Given the description of an element on the screen output the (x, y) to click on. 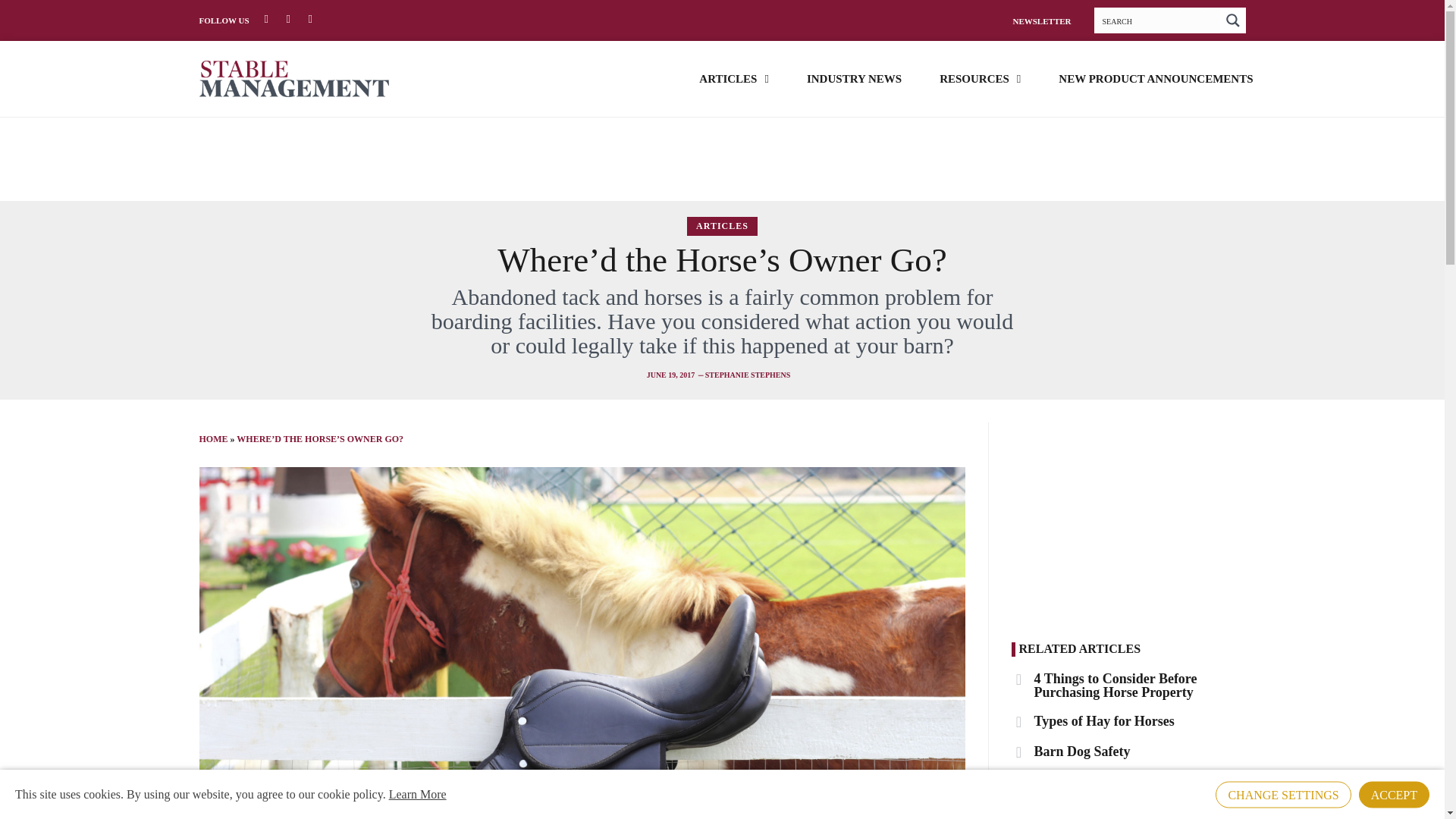
NEW PRODUCT ANNOUNCEMENTS (1155, 78)
INDUSTRY NEWS (853, 78)
3rd party ad content (721, 159)
NEWSLETTER (1040, 20)
RESOURCES (979, 78)
3rd party ad content (1132, 516)
ARTICLES (733, 78)
